Given the description of an element on the screen output the (x, y) to click on. 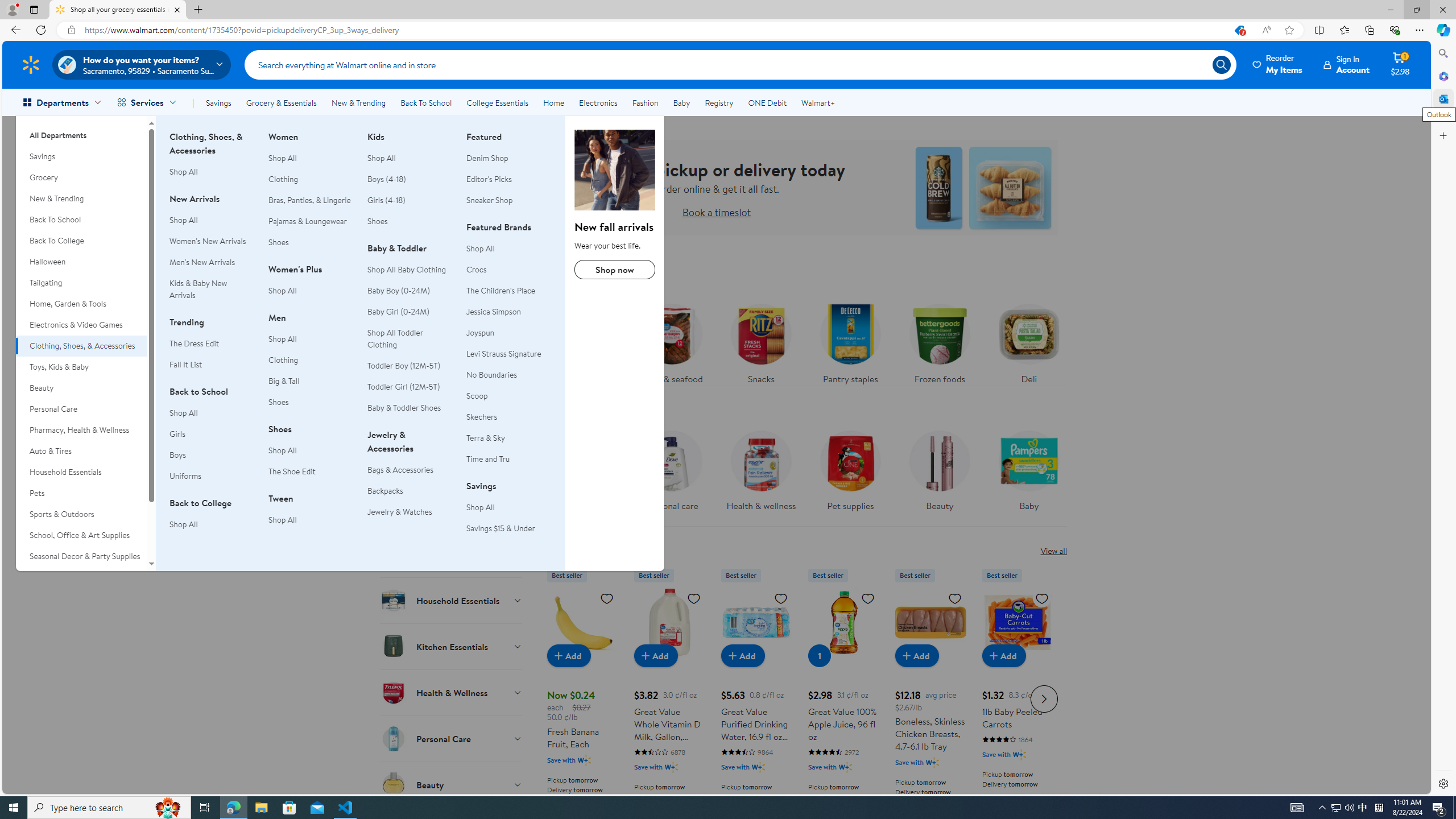
Beauty (938, 467)
Registry (718, 102)
Savings $15 & Under (500, 527)
View all (1053, 550)
Toddler Girl (12M-5T) (409, 386)
Kids & Baby New Arrivals (197, 288)
Bags & Accessories (409, 469)
Deli (1029, 340)
Clothing, Shoes, & Accessories  (615, 169)
